Given the description of an element on the screen output the (x, y) to click on. 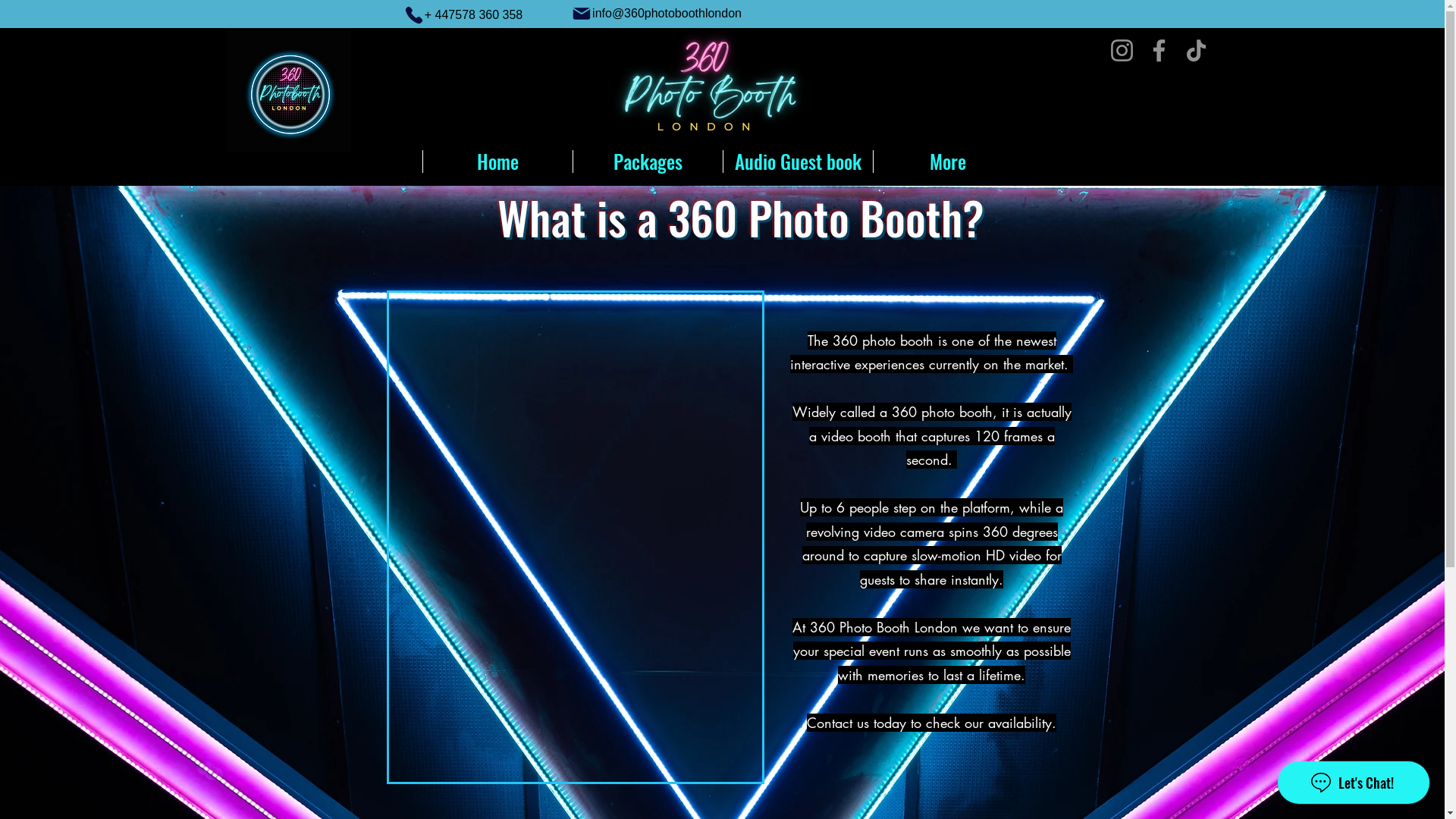
+ 447578 360 358 Element type: text (462, 15)
info@360photoboothlondon Element type: text (656, 13)
Home Element type: text (496, 161)
Packages Element type: text (646, 161)
Audio Guest book Element type: text (796, 161)
